Given the description of an element on the screen output the (x, y) to click on. 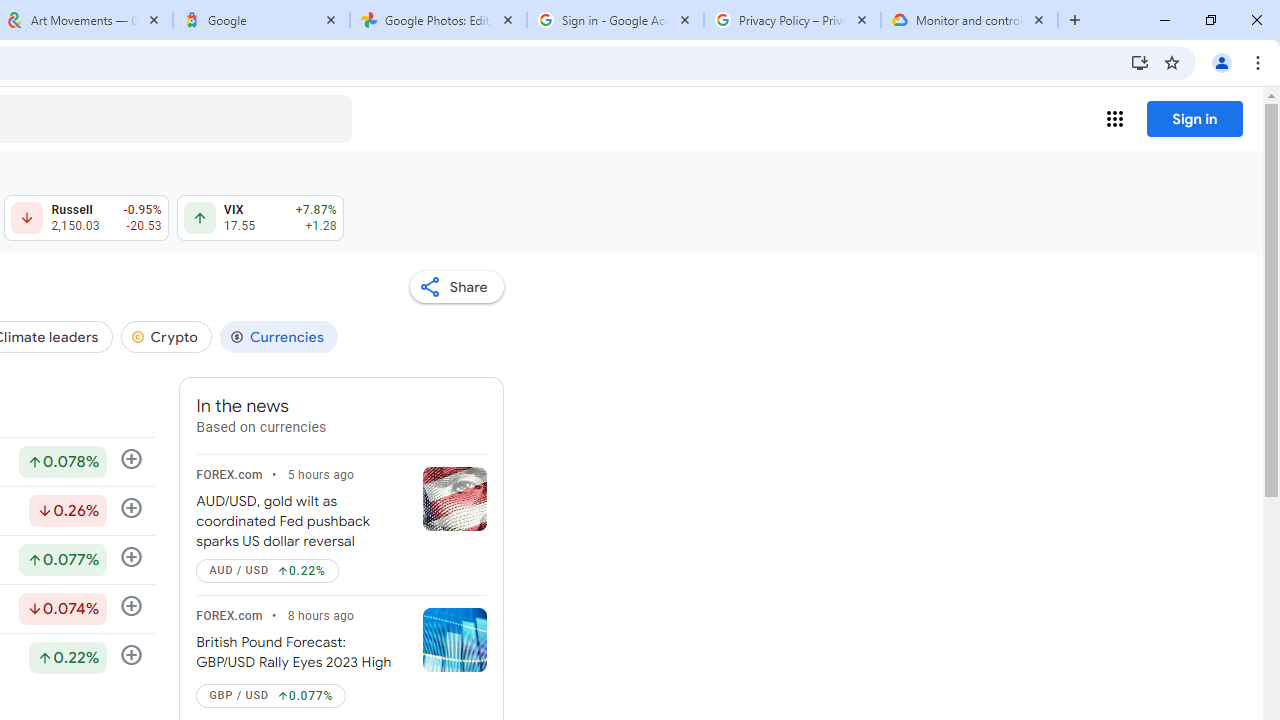
Install Google Finance (1139, 62)
Currencies (278, 336)
AUD / USD Up by 0.22% (267, 570)
Crypto (166, 336)
VIX 17.55 Up by 7.87% +1.28 (260, 218)
